Given the description of an element on the screen output the (x, y) to click on. 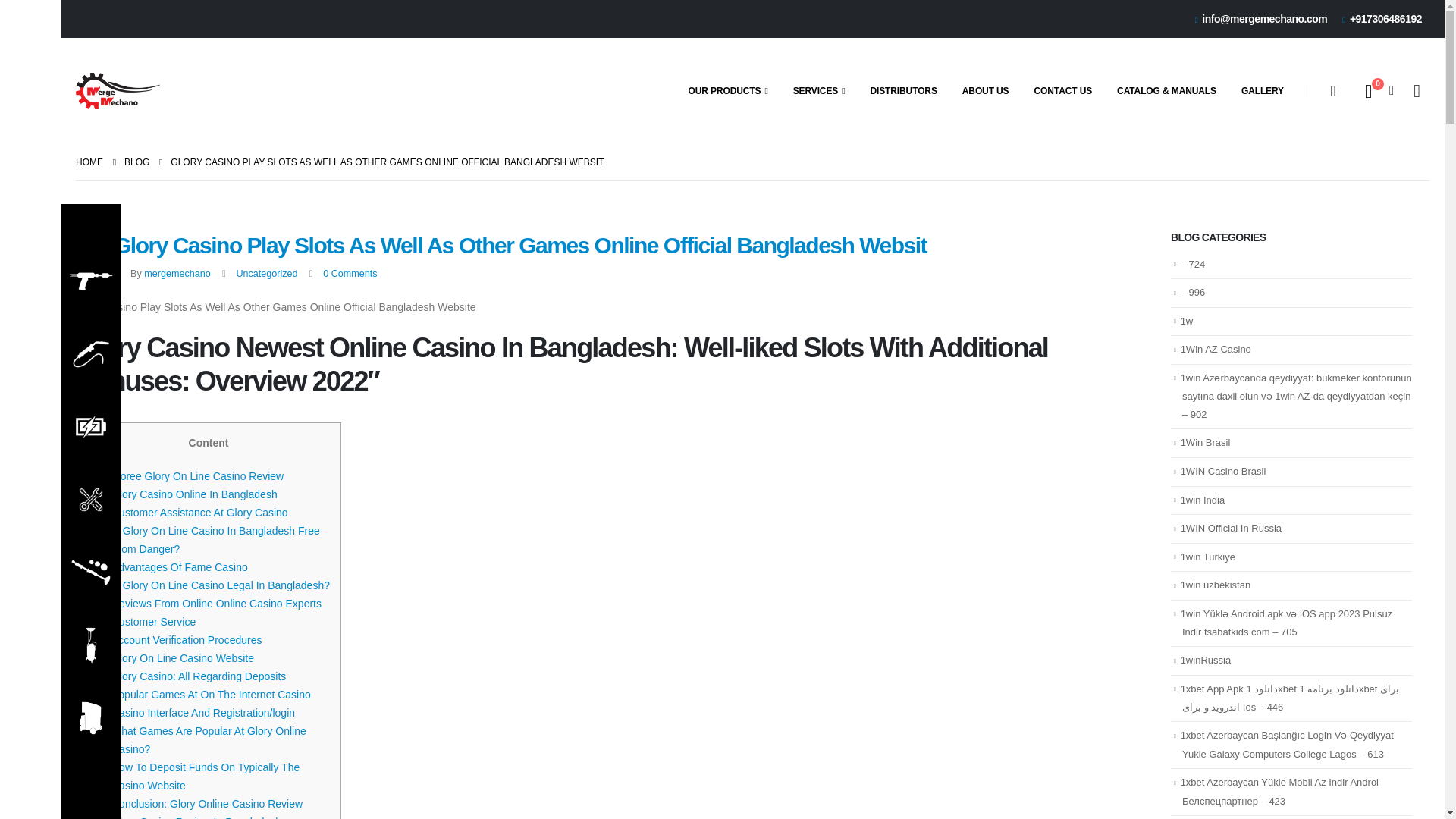
HOME (89, 162)
Uncategorized (266, 273)
mergemechano (177, 273)
Customer Assistance At Glory Casino (200, 512)
Glory Casino Online In Bangladesh (195, 494)
0 Comments (350, 273)
My Account (1417, 90)
SERVICES (818, 90)
BLOG (136, 162)
Moree Glory On Line Casino Review (197, 476)
